Given the description of an element on the screen output the (x, y) to click on. 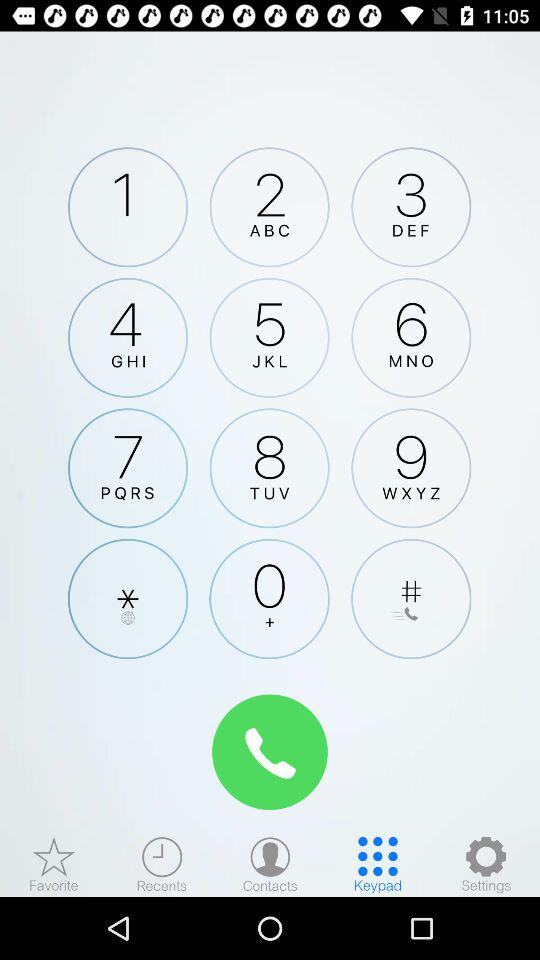
number 9 (411, 468)
